Given the description of an element on the screen output the (x, y) to click on. 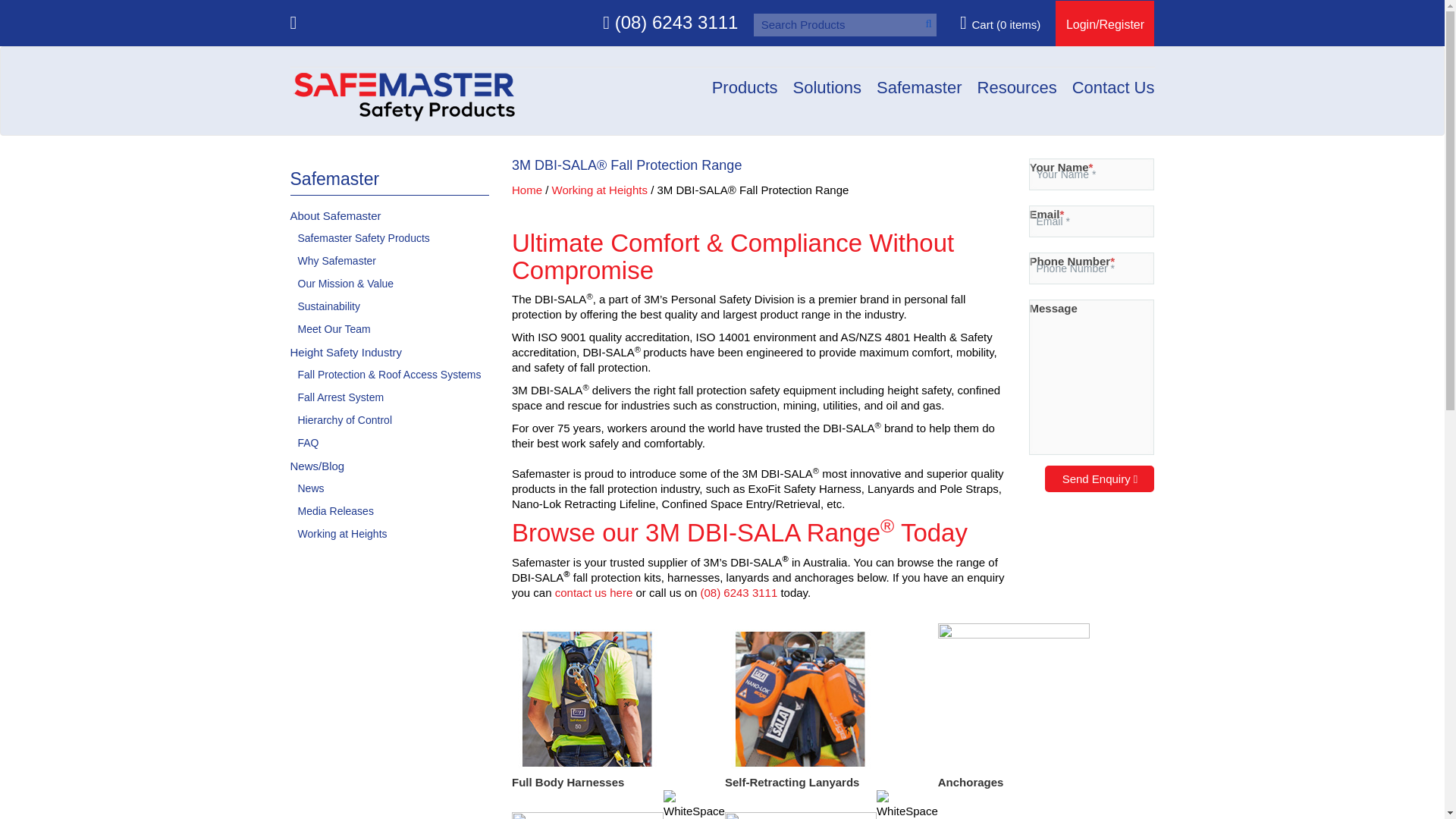
Go to the Working at Heights category archives. (599, 189)
Safemaster Safety Products (402, 94)
Safemaster (919, 87)
Go to Safemaster Safety Products. (526, 189)
Products (745, 87)
Solutions (929, 82)
